Given the description of an element on the screen output the (x, y) to click on. 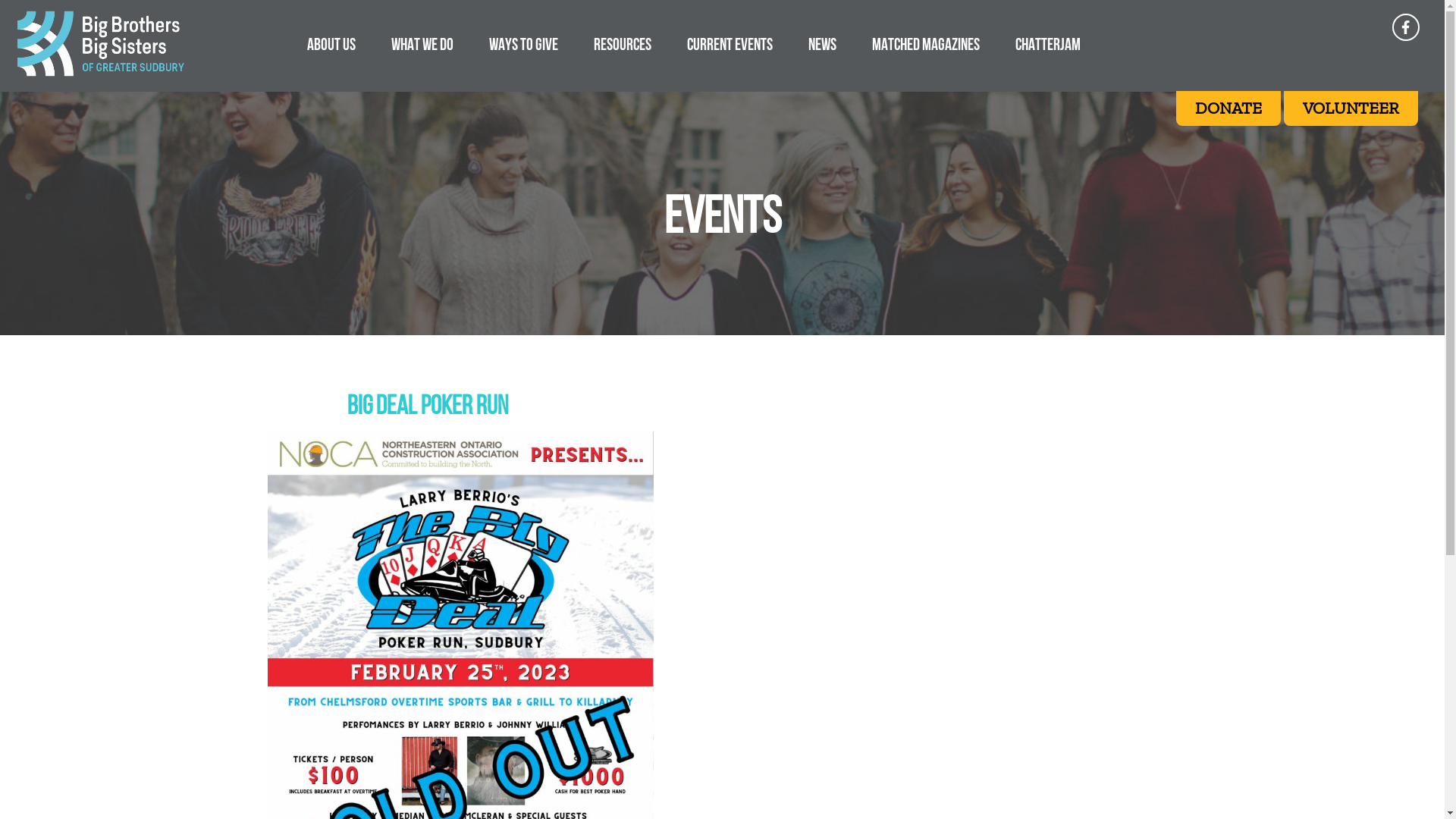
DONATE Element type: text (1228, 108)
WHAT WE DO Element type: text (422, 44)
NEWS Element type: text (822, 44)
CURRENT EVENTS Element type: text (729, 44)
VOLUNTEER Element type: text (1350, 108)
MATCHED MAGAZINES Element type: text (925, 44)
ABOUT US Element type: text (330, 44)
WAYS TO GIVE Element type: text (523, 44)
RESOURCES Element type: text (622, 44)
CHATTERJAM Element type: text (1047, 44)
